Given the description of an element on the screen output the (x, y) to click on. 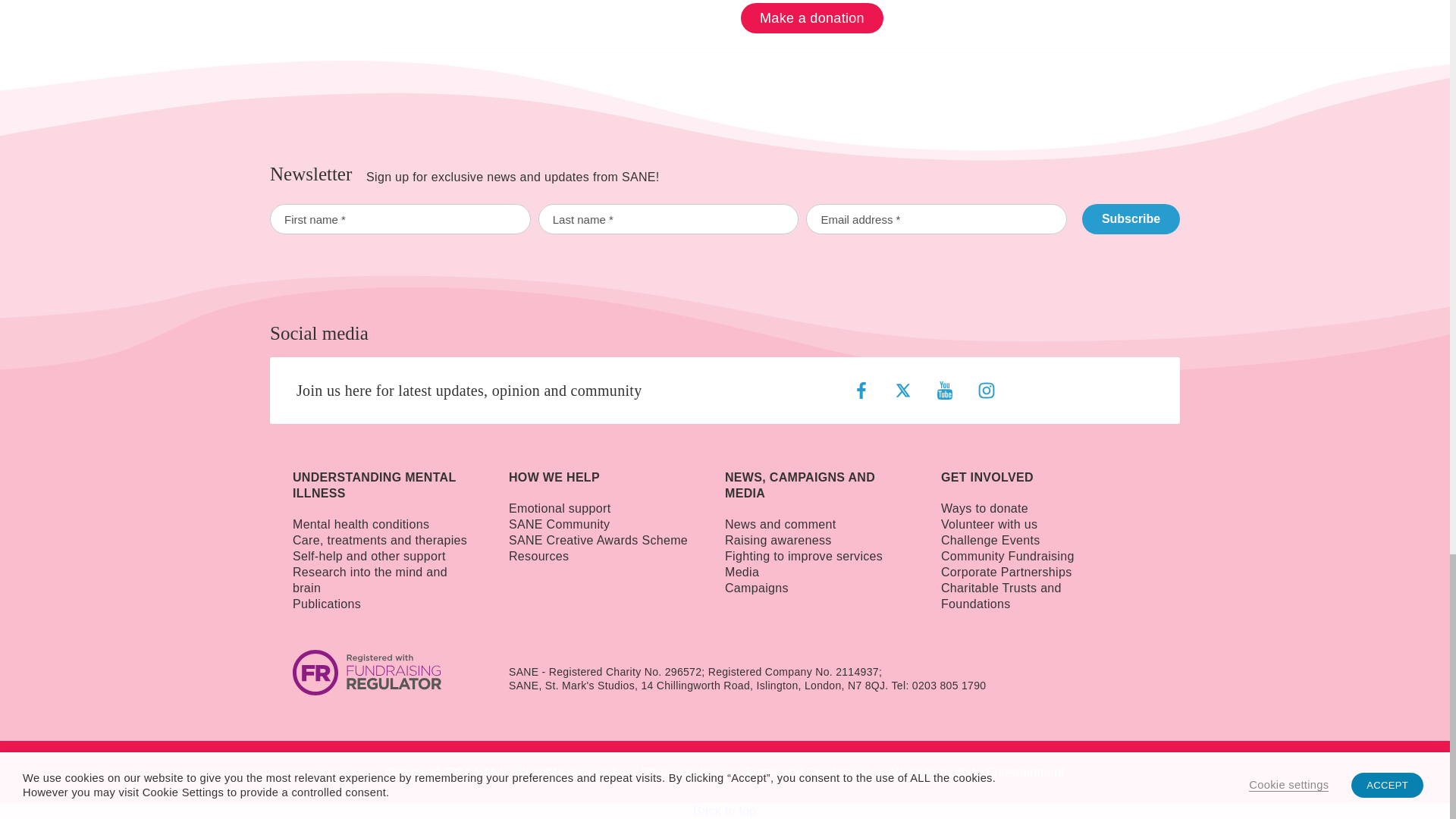
Subscribe (1130, 218)
